Given the description of an element on the screen output the (x, y) to click on. 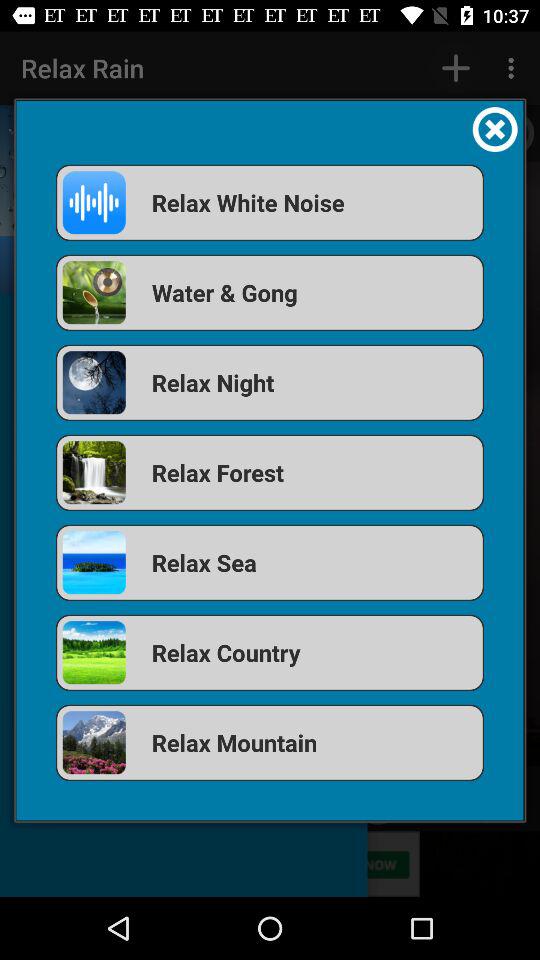
tap the item at the top right corner (494, 129)
